Given the description of an element on the screen output the (x, y) to click on. 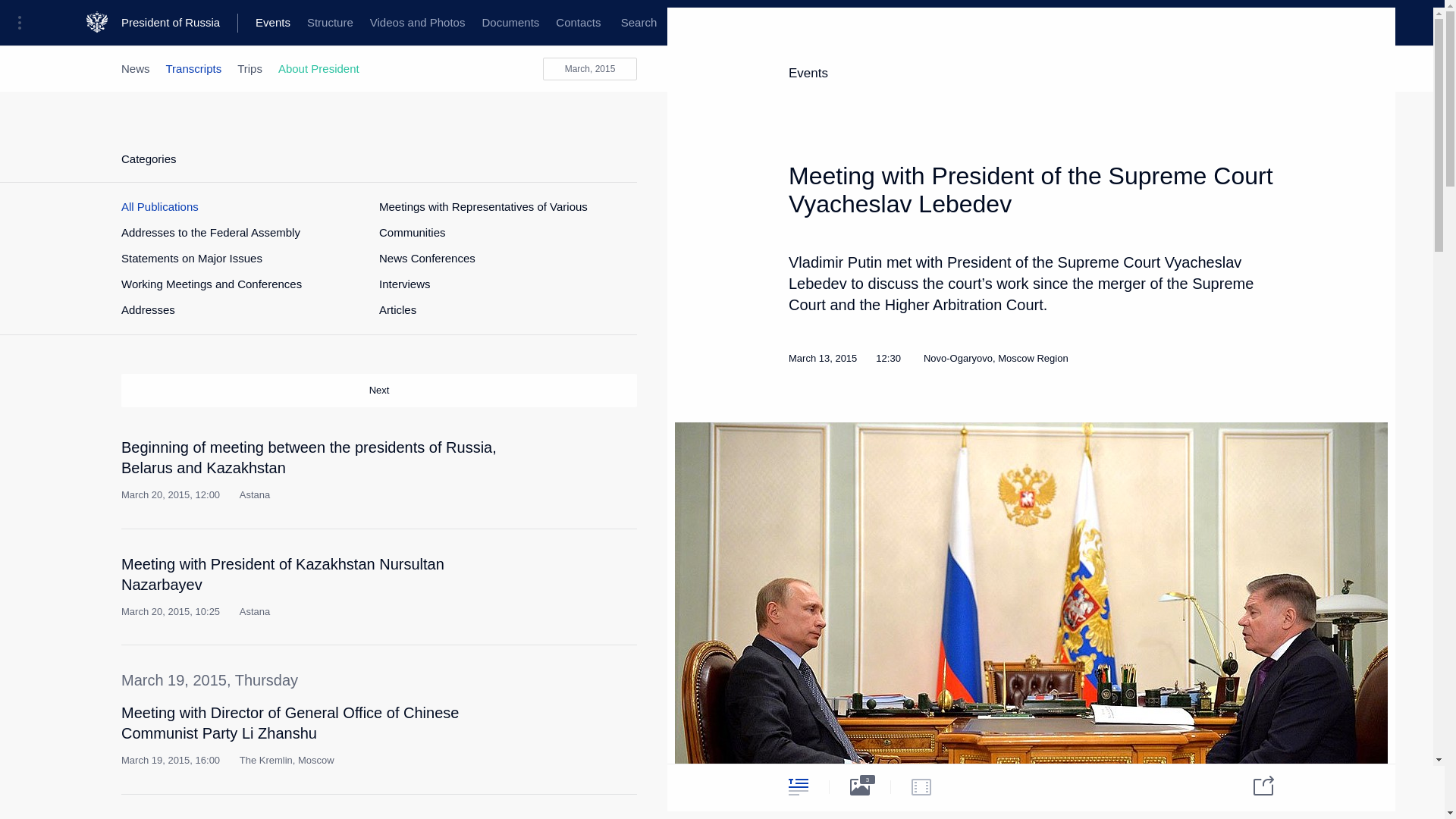
State Council (378, 22)
Search (638, 22)
Addresses to the Federal Assembly (209, 232)
Videos and Photos (417, 22)
Text of the article (549, 718)
Portal Menu (24, 22)
Working Meetings and Conferences (210, 284)
Security Council (470, 22)
Commissions and Councils (596, 22)
